Given the description of an element on the screen output the (x, y) to click on. 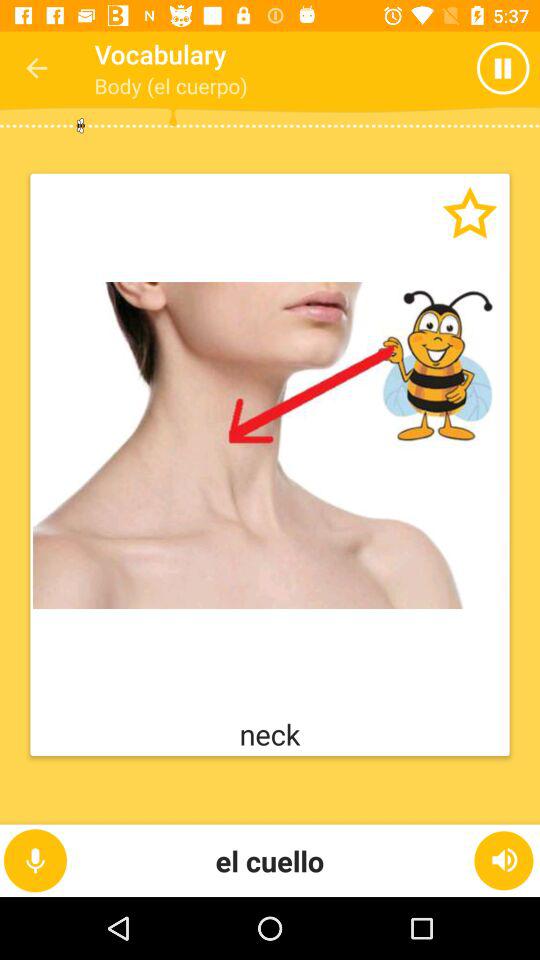
press the item at the center (270, 445)
